Given the description of an element on the screen output the (x, y) to click on. 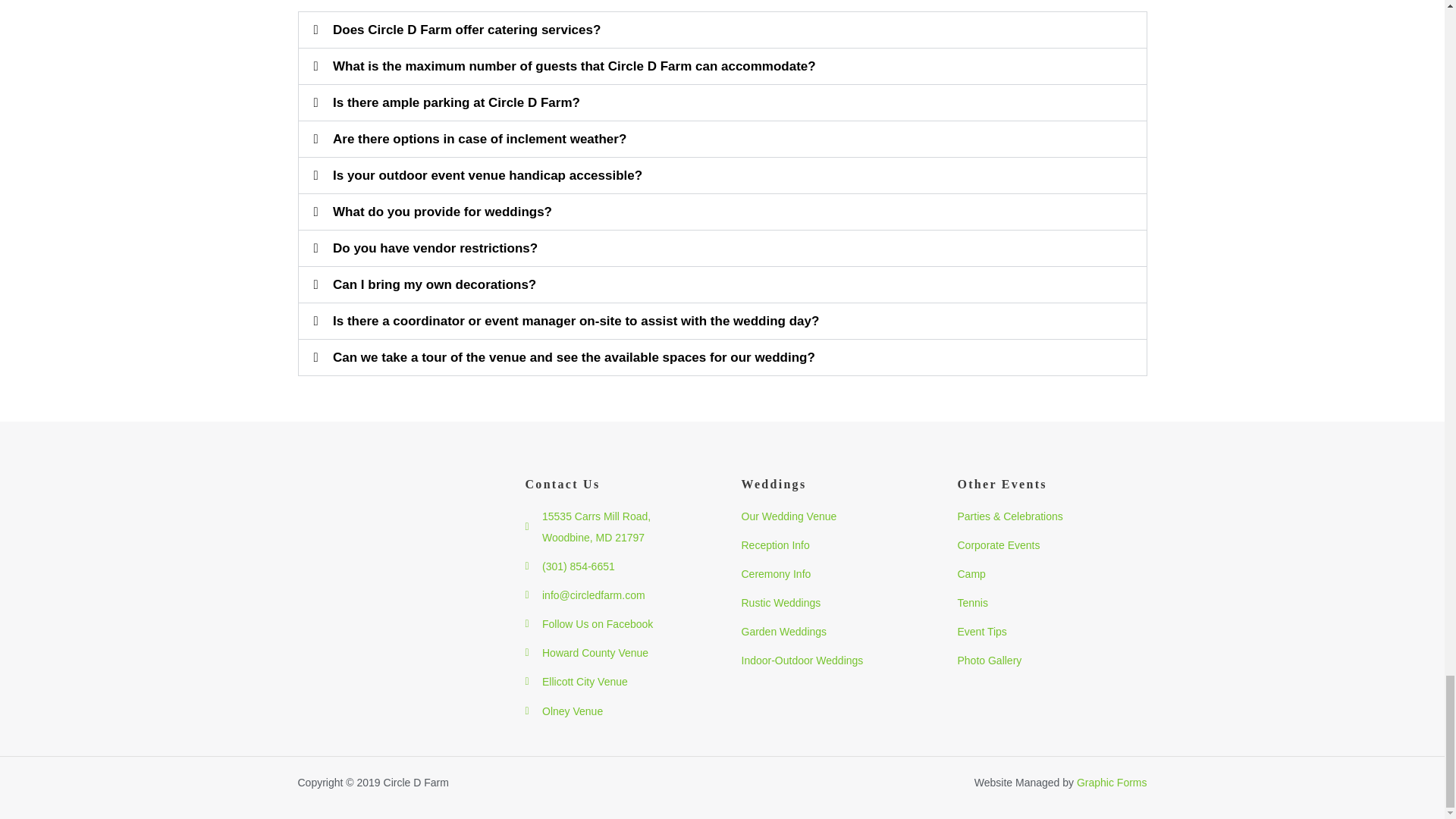
Is your outdoor event venue handicap accessible? (487, 175)
Does Circle D Farm offer catering services? (466, 29)
Is there ample parking at Circle D Farm? (456, 102)
Do you have vendor restrictions? (435, 247)
Are there options in case of inclement weather? (479, 138)
What do you provide for weddings? (442, 211)
Can I bring my own decorations? (434, 284)
